Given the description of an element on the screen output the (x, y) to click on. 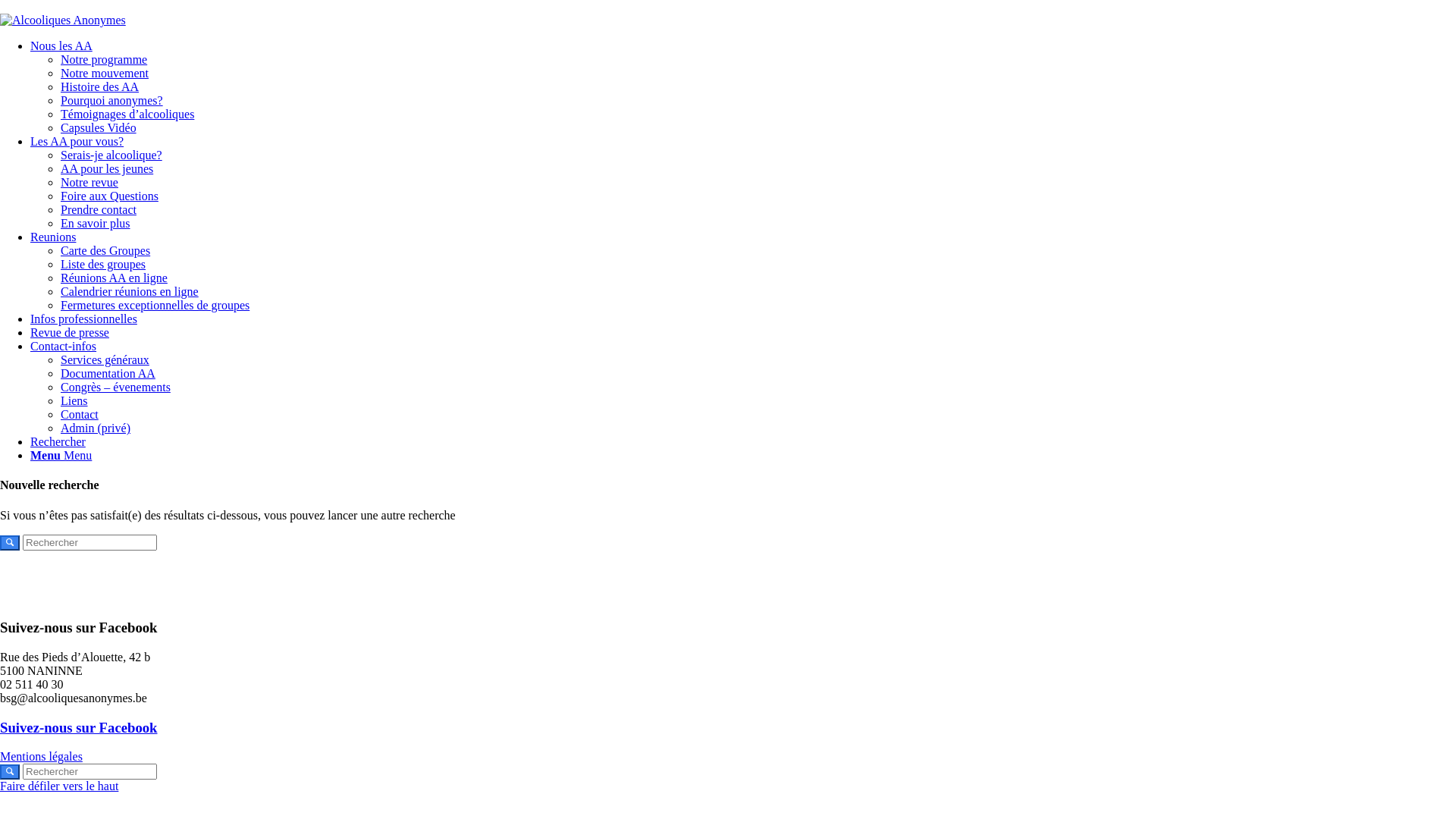
Prendre contact Element type: text (98, 209)
Nous les AA Element type: text (61, 45)
Les AA pour vous? Element type: text (76, 140)
Foire aux Questions Element type: text (109, 195)
Menu Menu Element type: text (60, 454)
Histoire des AA Element type: text (99, 86)
Contact Element type: text (79, 413)
Infos professionnelles Element type: text (83, 318)
Revue de presse Element type: text (69, 332)
Fermetures exceptionnelles de groupes Element type: text (154, 304)
Contact-infos Element type: text (63, 345)
Liste des groupes Element type: text (102, 263)
Rechercher Element type: text (57, 441)
Notre programme Element type: text (103, 59)
Carte des Groupes Element type: text (105, 250)
Pourquoi anonymes? Element type: text (111, 100)
Suivez-nous sur Facebook Element type: text (78, 727)
Documentation AA Element type: text (107, 373)
Liens Element type: text (73, 400)
AA pour les jeunes Element type: text (106, 168)
Notre revue Element type: text (89, 181)
Reunions Element type: text (52, 236)
Serais-je alcoolique? Element type: text (111, 154)
Notre mouvement Element type: text (104, 72)
En savoir plus Element type: text (95, 222)
